Given the description of an element on the screen output the (x, y) to click on. 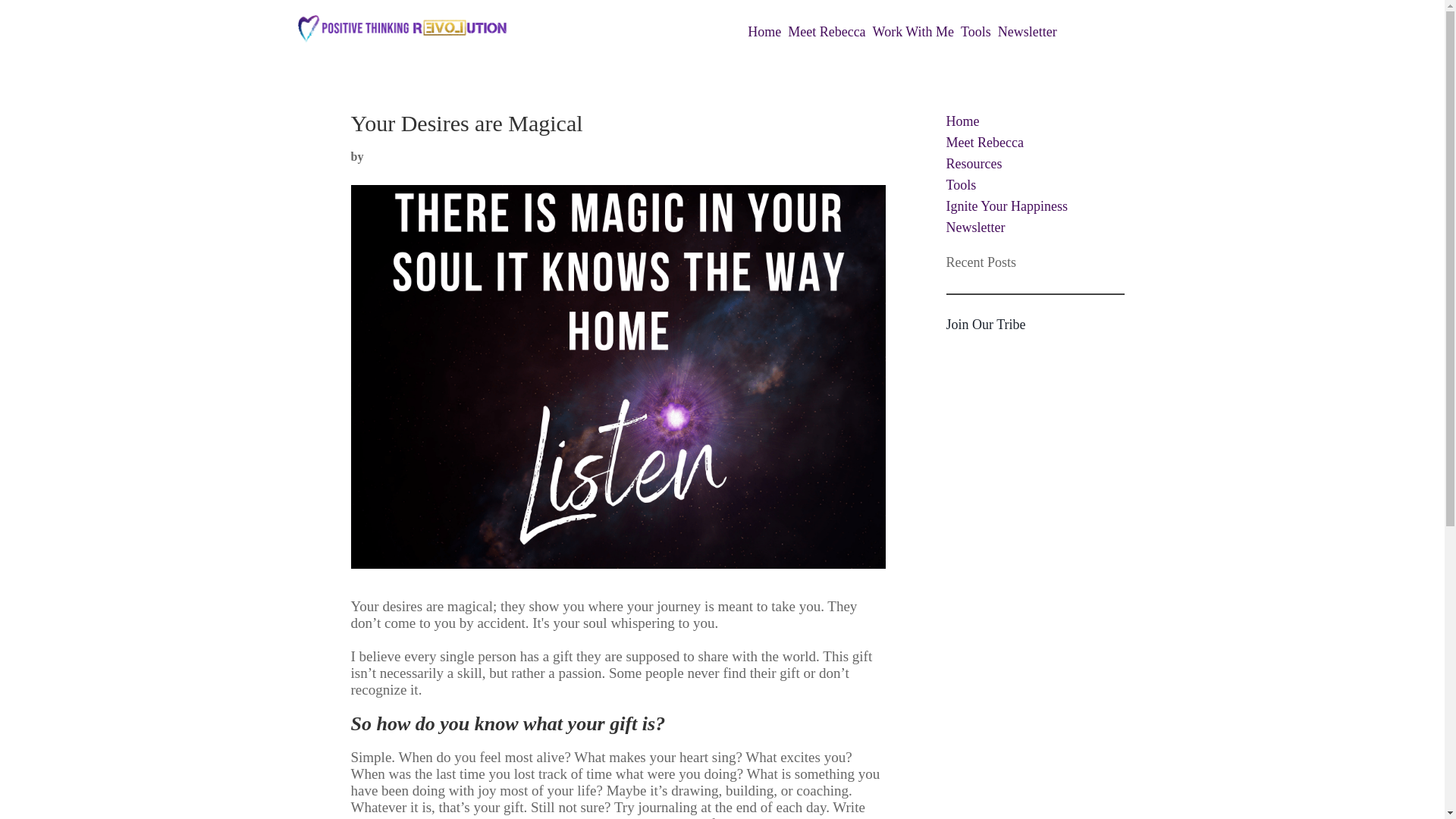
Work With Me (912, 32)
Newsletter (1027, 32)
Home (962, 120)
Tools (975, 32)
Ignite Your Happiness (1007, 206)
Home (764, 32)
Meet Rebecca (825, 32)
Resources (974, 163)
Tools (961, 184)
Newsletter (976, 227)
